Given the description of an element on the screen output the (x, y) to click on. 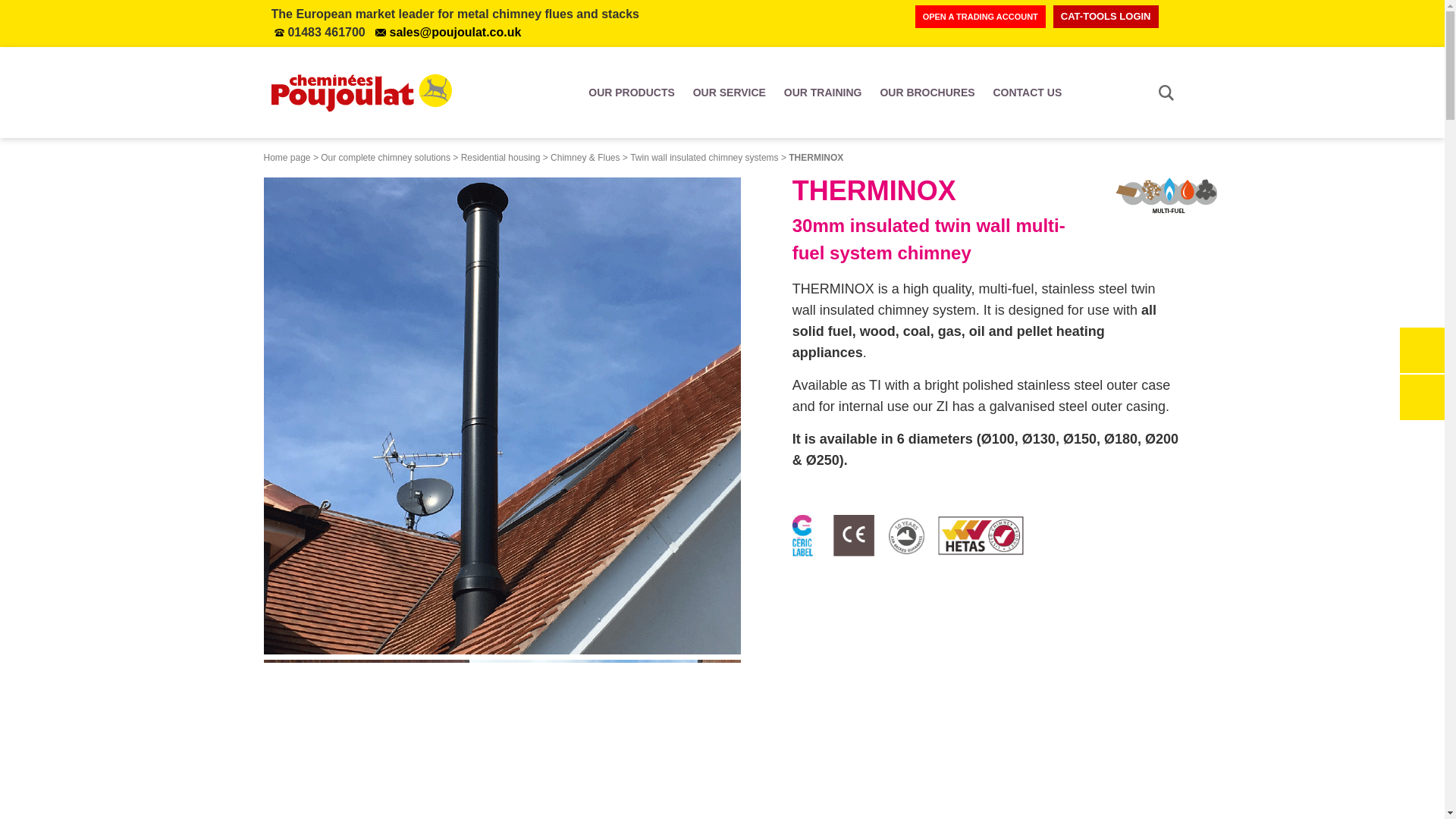
open a trading account (980, 15)
OUR PRODUCTS (631, 92)
logo poujoulat (378, 92)
OPEN A TRADING ACCOUNT (980, 15)
CAT-TOOLS LOGIN (1105, 15)
